Given the description of an element on the screen output the (x, y) to click on. 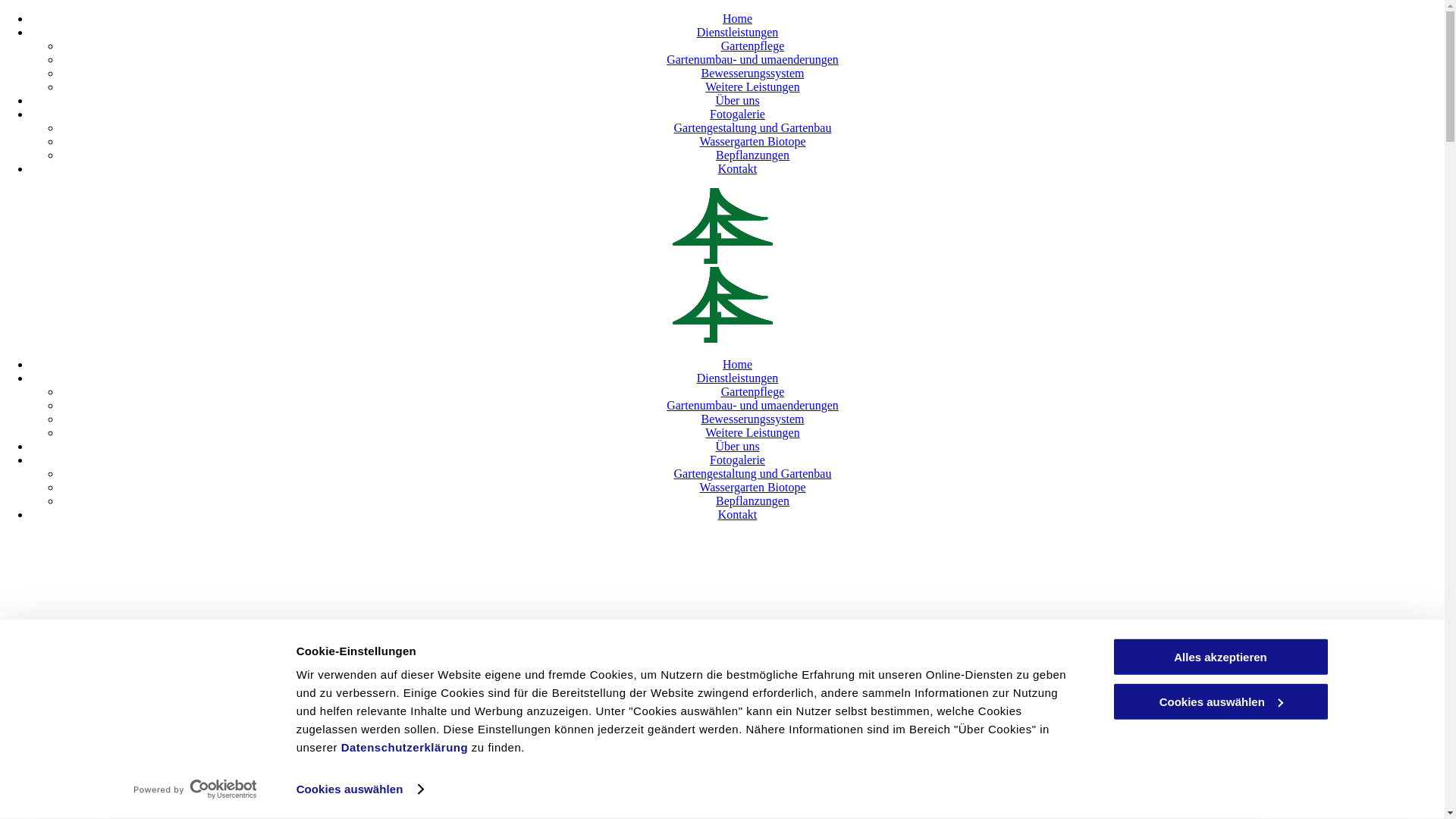
Gartenpflege Element type: text (752, 45)
Fotogalerie Element type: text (737, 113)
Wassergarten Biotope Element type: text (752, 140)
Wassergarten Biotope Element type: text (752, 486)
Weitere Leistungen Element type: text (752, 86)
Kontakt Element type: text (737, 168)
Alles akzeptieren Element type: text (1219, 656)
Fotogalerie Element type: text (737, 459)
Bewesserungssystem Element type: text (751, 418)
Weitere Leistungen Element type: text (752, 432)
Gartengestaltung und Gartenbau Element type: text (752, 473)
Home Element type: text (737, 363)
Bepflanzungen Element type: text (752, 500)
Gartengestaltung und Gartenbau Element type: text (752, 127)
Gartenpflege Element type: text (752, 391)
Dienstleistungen Element type: text (737, 377)
Dienstleistungen Element type: text (737, 31)
Bewesserungssystem Element type: text (751, 72)
Home Element type: text (737, 18)
Bepflanzungen Element type: text (752, 154)
Kontakt Element type: text (737, 514)
Gartenumbau- und umaenderungen Element type: text (752, 59)
Gartenumbau- und umaenderungen Element type: text (752, 404)
